Given the description of an element on the screen output the (x, y) to click on. 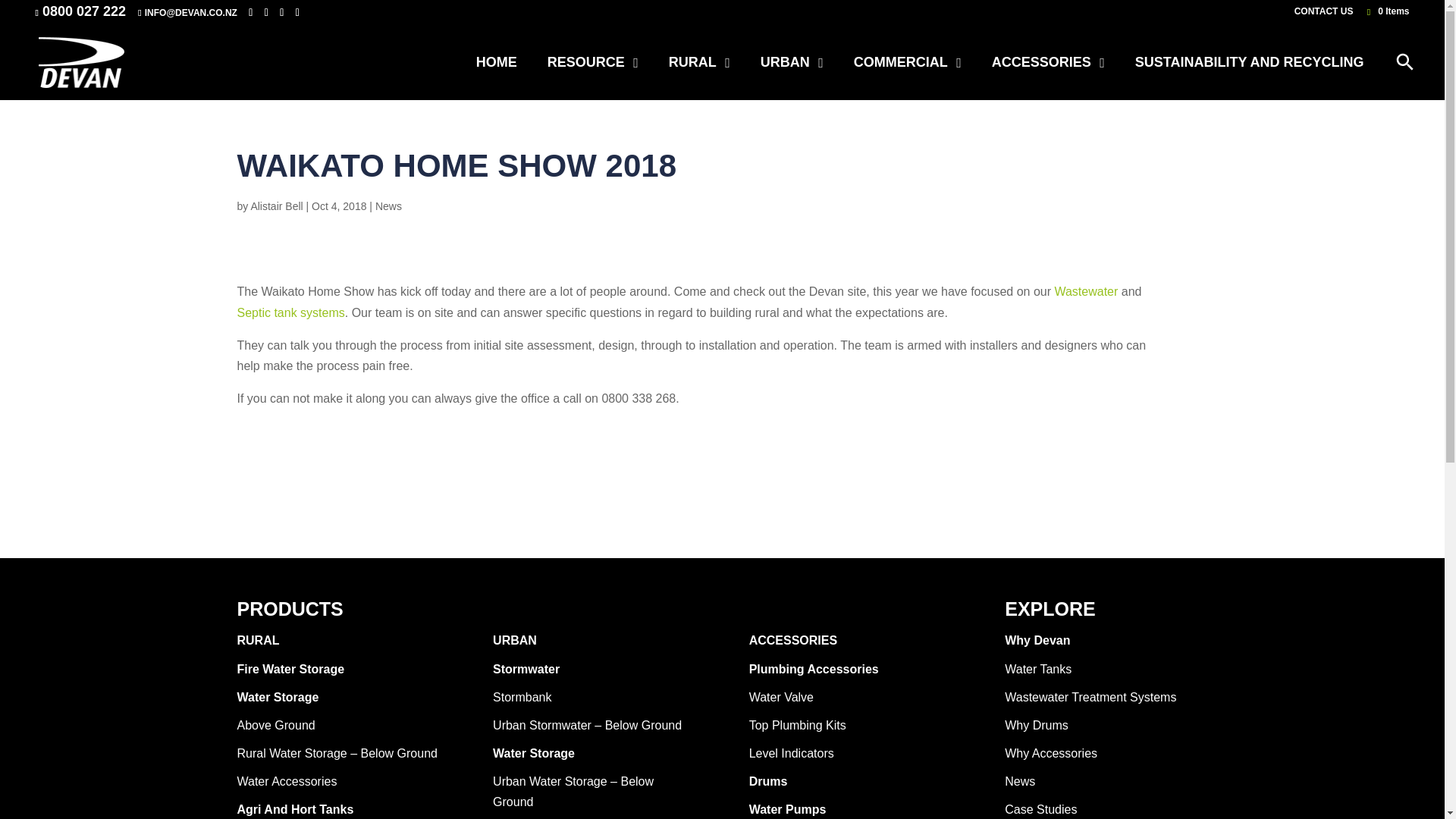
RESOURCE (592, 62)
CONTACT US (1324, 14)
0800 027 222 (83, 11)
0 Items (1386, 10)
RURAL (699, 62)
HOME (496, 62)
Posts by Alistair Bell (276, 205)
